Given the description of an element on the screen output the (x, y) to click on. 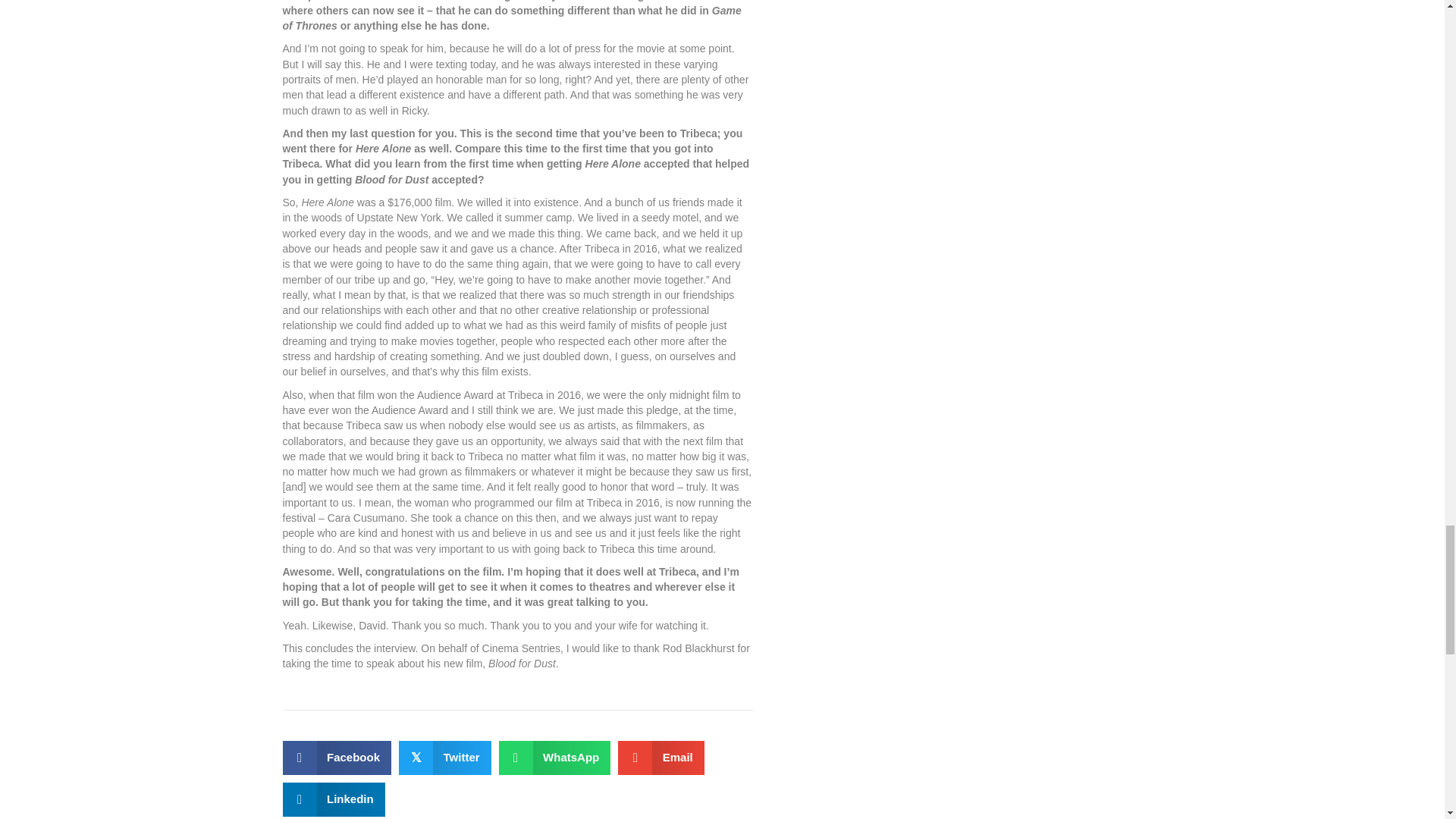
WhatsApp (555, 757)
Email (660, 757)
Facebook (336, 757)
Linkedin (333, 799)
